Given the description of an element on the screen output the (x, y) to click on. 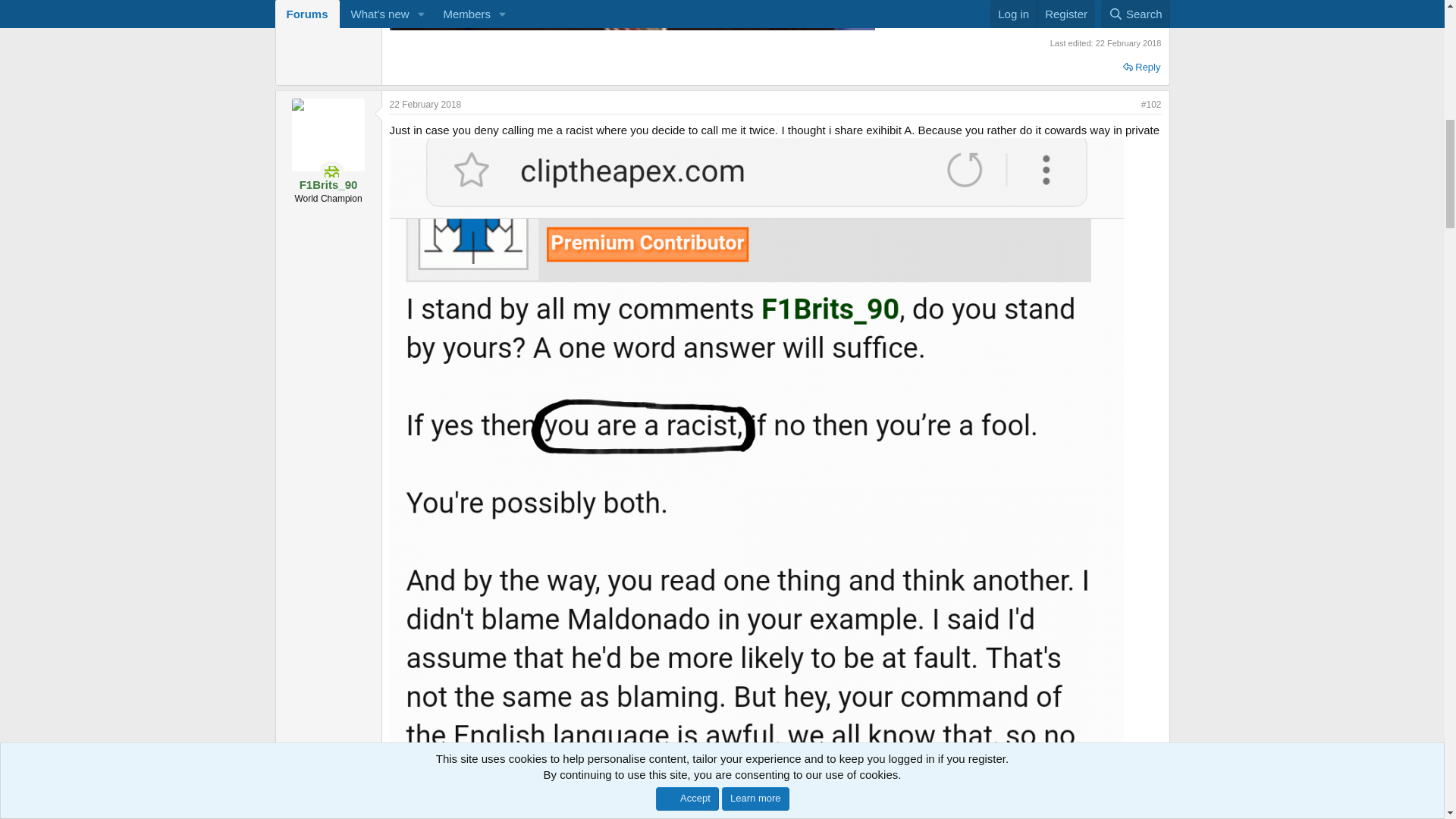
Reply, quoting this message (1141, 66)
22 February 2018 at 15:58 (425, 104)
22 February 2018 at 16:08 (1128, 42)
